Given the description of an element on the screen output the (x, y) to click on. 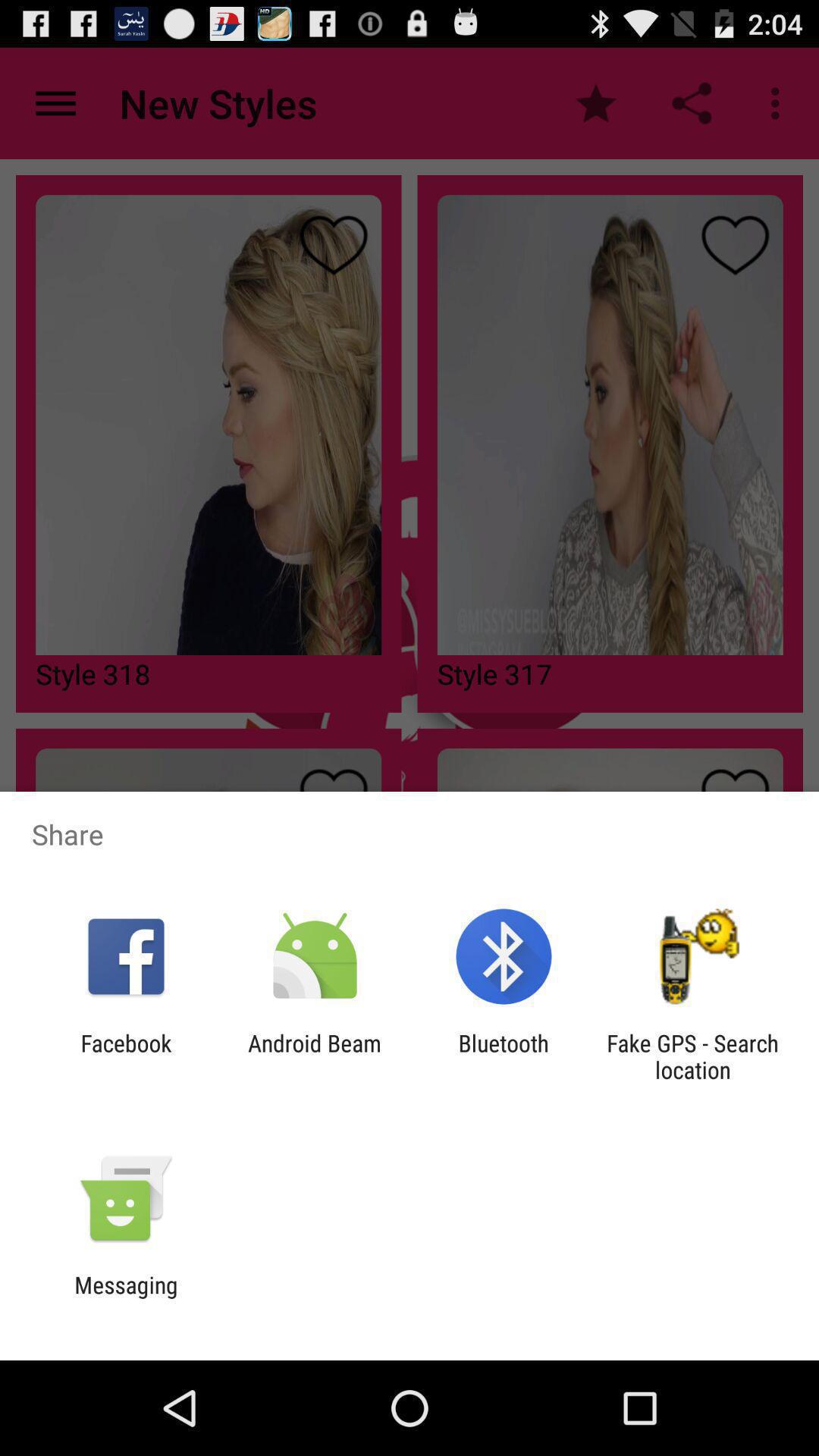
click app to the right of facebook (314, 1056)
